Given the description of an element on the screen output the (x, y) to click on. 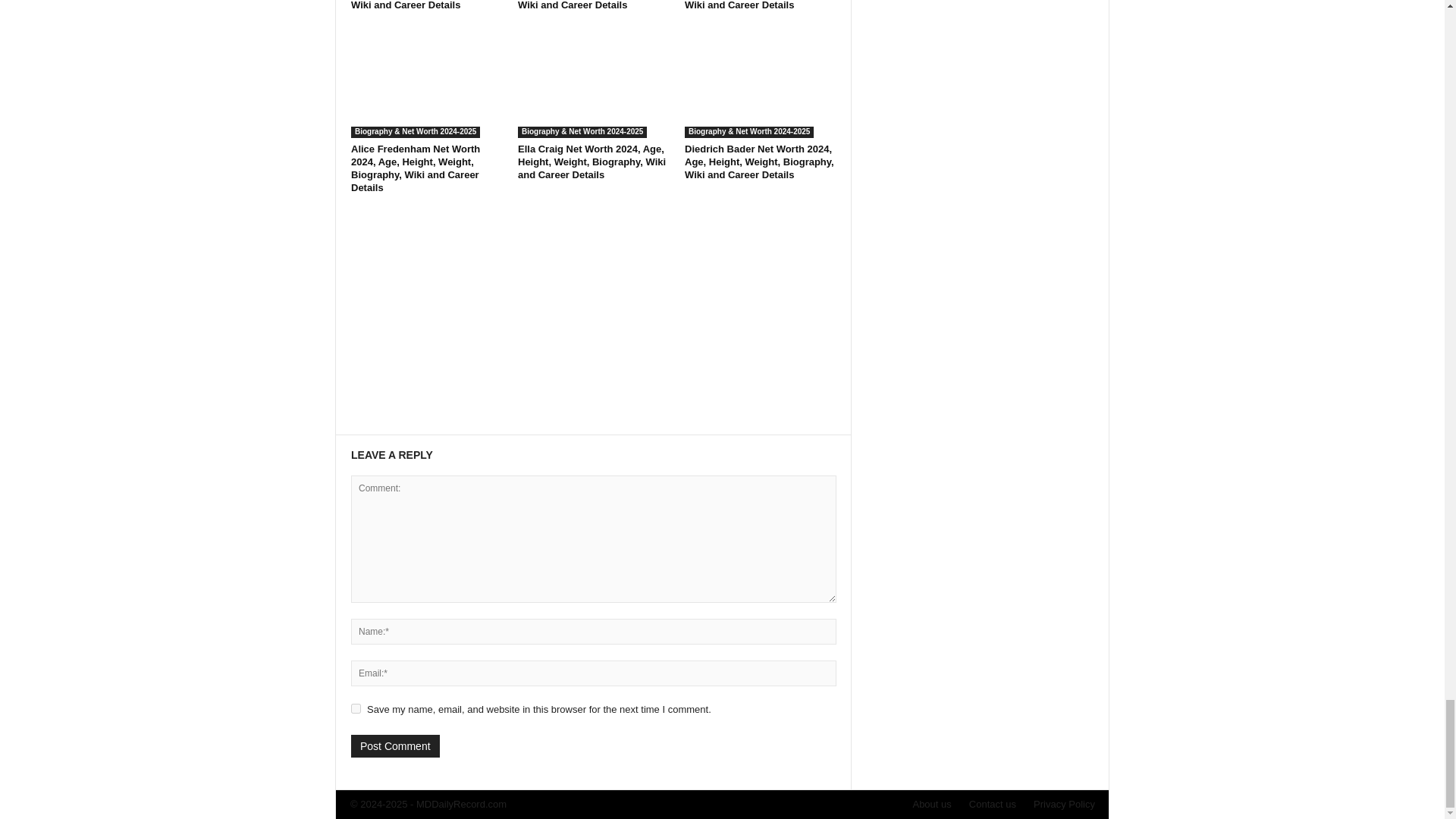
Post Comment (394, 745)
yes (355, 708)
